Given the description of an element on the screen output the (x, y) to click on. 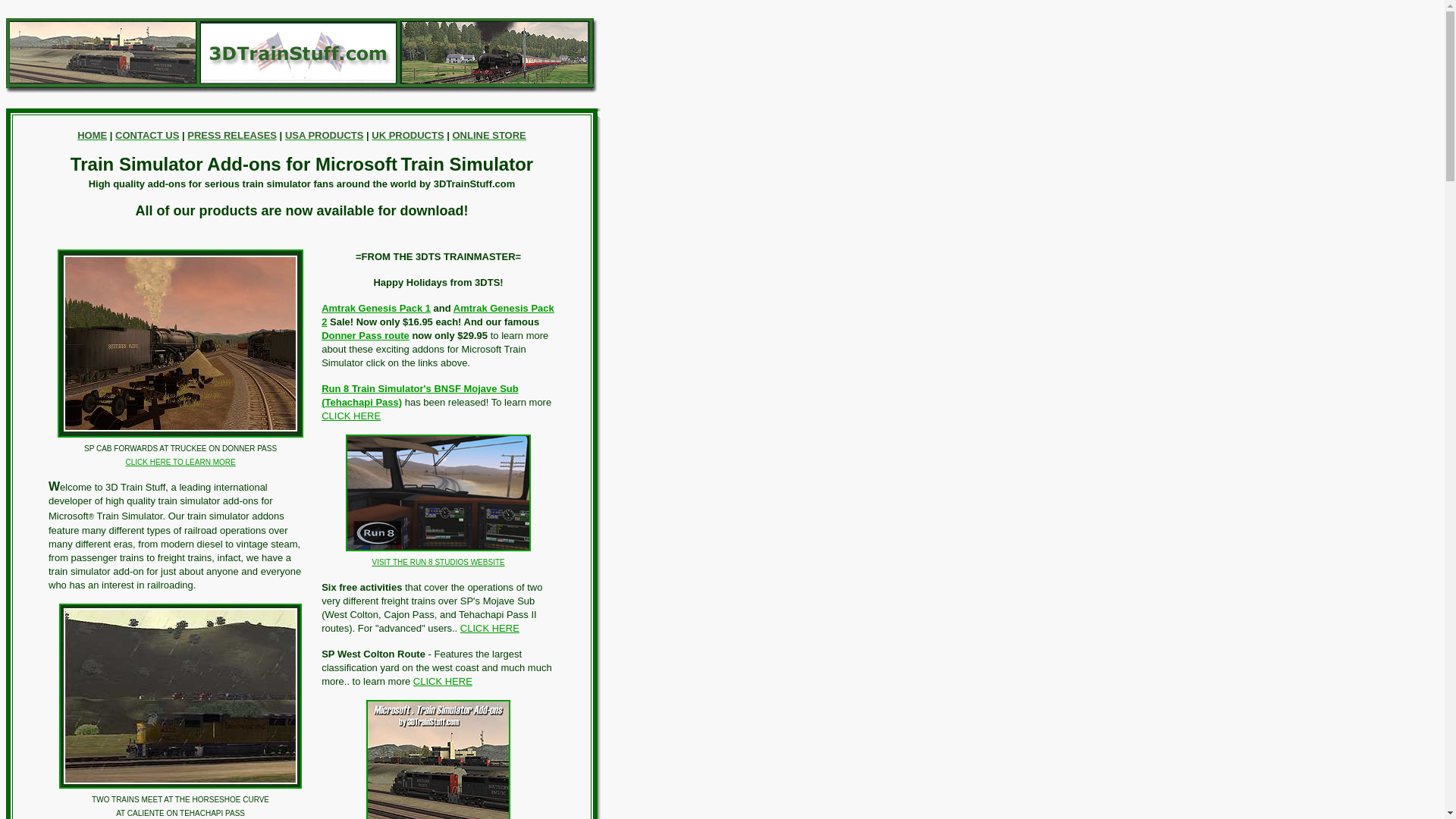
VISIT THE RUN 8 STUDIOS WEBSITE Element type: text (437, 562)
Run 8 Train Simulator's BNSF Mojave Sub (Tehachapi Pass) Element type: text (419, 394)
CLICK HERE Element type: text (442, 681)
PRESS RELEASES Element type: text (231, 135)
CLICK HERE Element type: text (350, 415)
Amtrak Genesis Pack 1 Element type: text (375, 307)
Donner Pass route Element type: text (365, 335)
USA PRODUCTS Element type: text (324, 135)
CLICK HERE Element type: text (489, 627)
HOME Element type: text (91, 135)
UK PRODUCTS Element type: text (407, 135)
Amtrak Genesis Pack 2 Element type: text (437, 314)
CONTACT US Element type: text (146, 135)
ONLINE STORE Element type: text (488, 135)
CLICK HERE TO LEARN MORE Element type: text (180, 462)
